Given the description of an element on the screen output the (x, y) to click on. 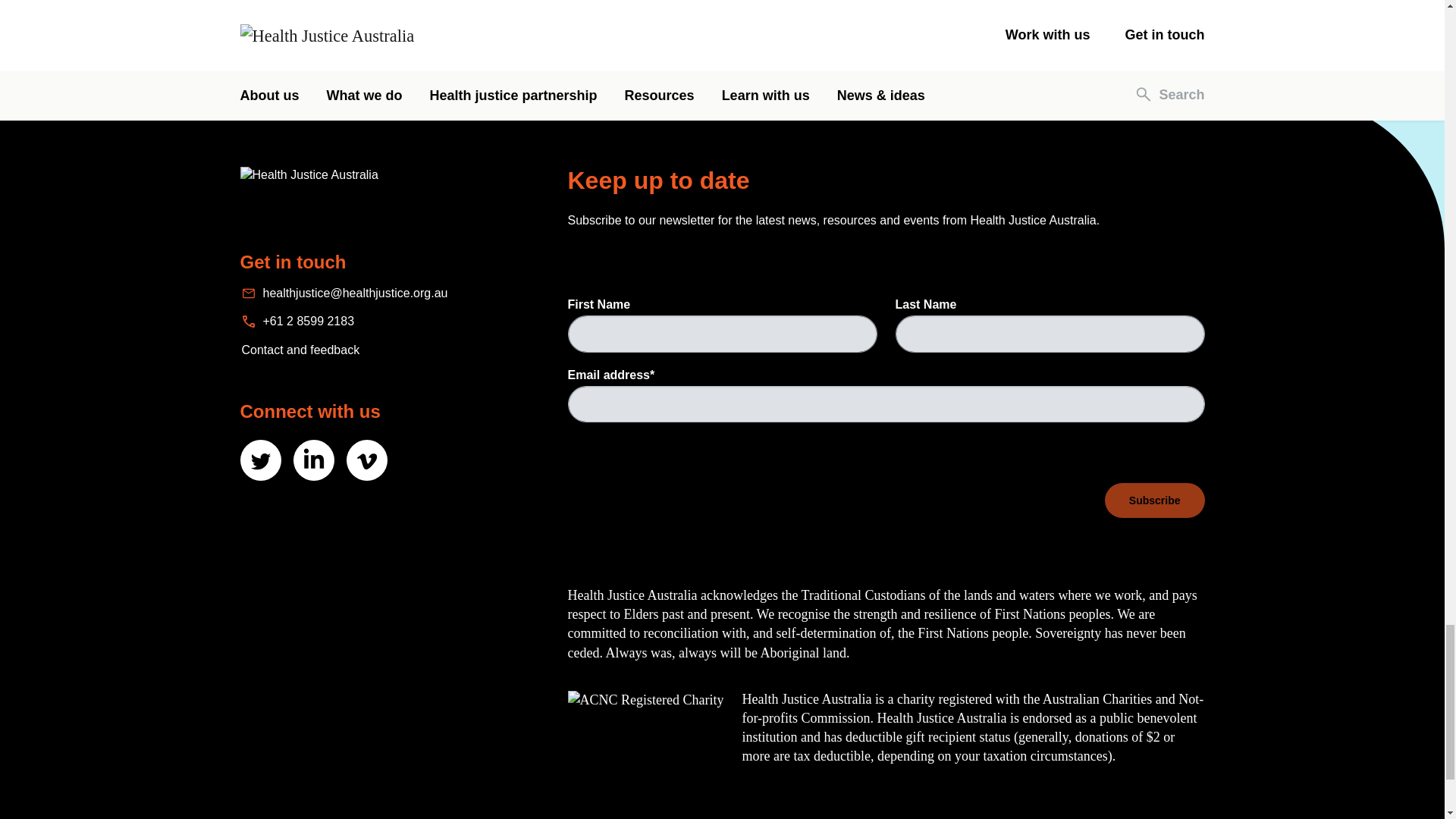
Subscribe (1155, 500)
